Given the description of an element on the screen output the (x, y) to click on. 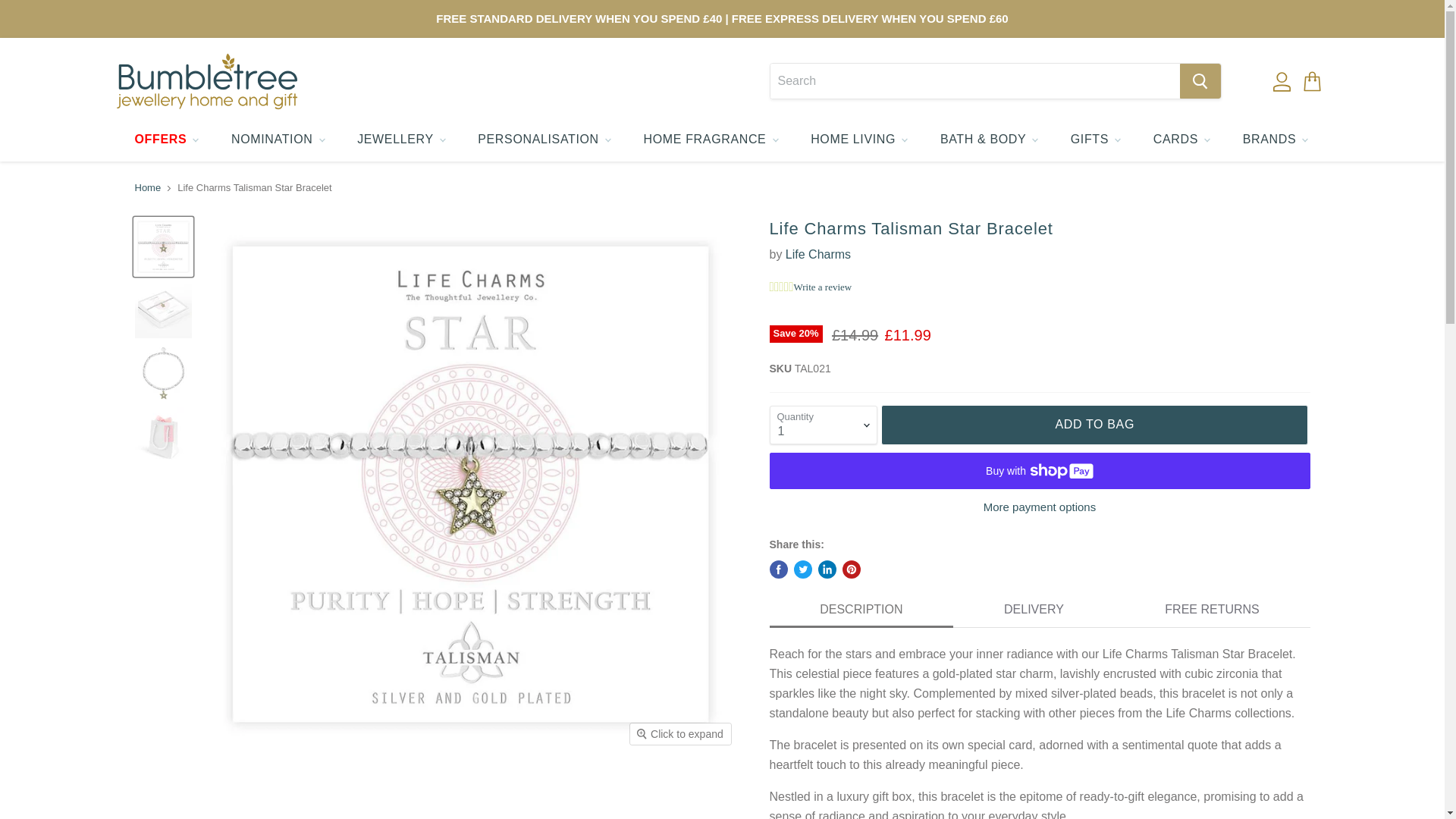
OFFERS (165, 139)
View cart (1309, 80)
Life Charms (818, 254)
